Given the description of an element on the screen output the (x, y) to click on. 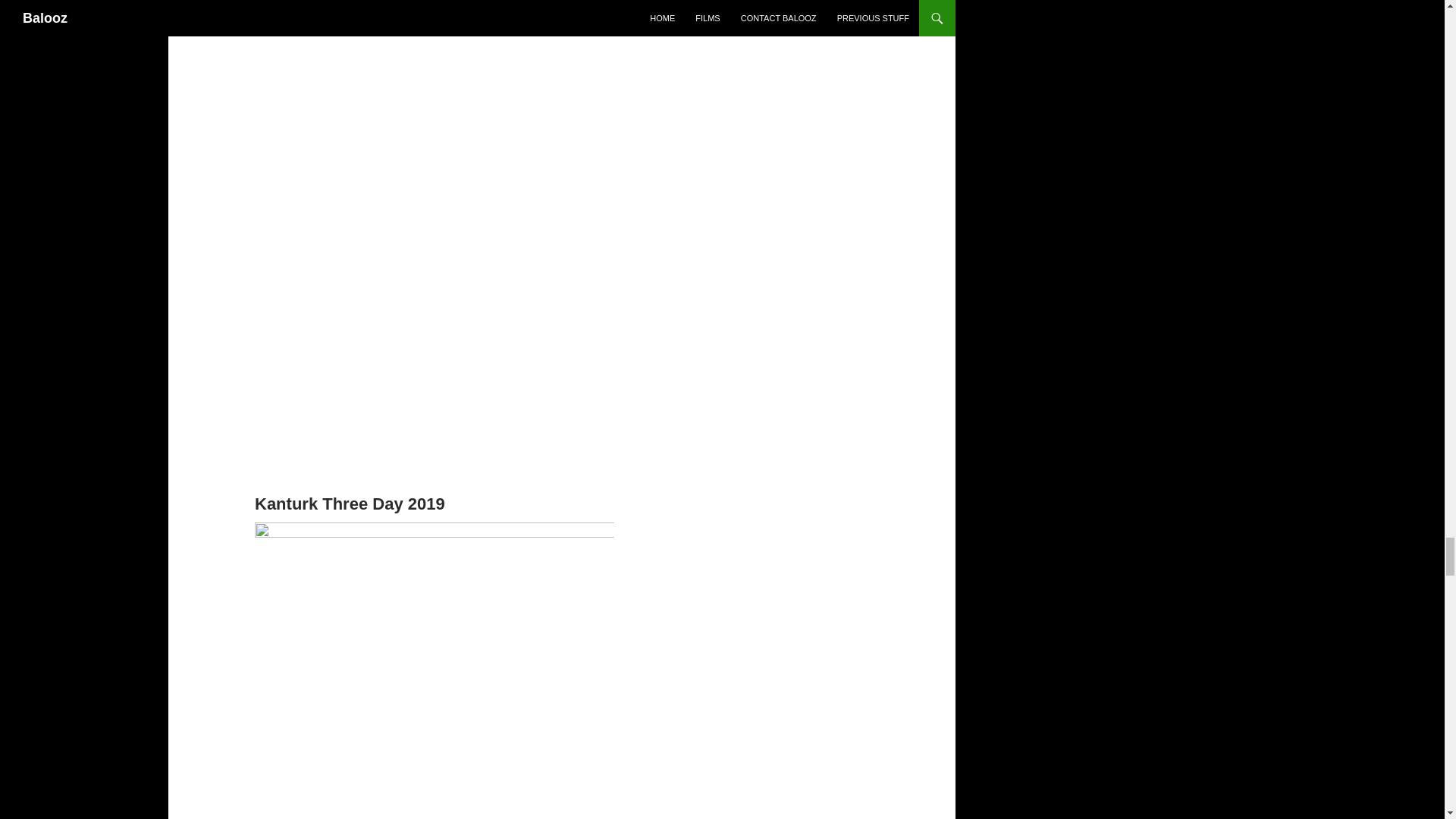
Kanturk 3 Day Stage 2 TT (434, 135)
Kanturk 3 Day Stage 3 (434, 5)
Kanturk 3 Day Stage 1 (434, 361)
